Given the description of an element on the screen output the (x, y) to click on. 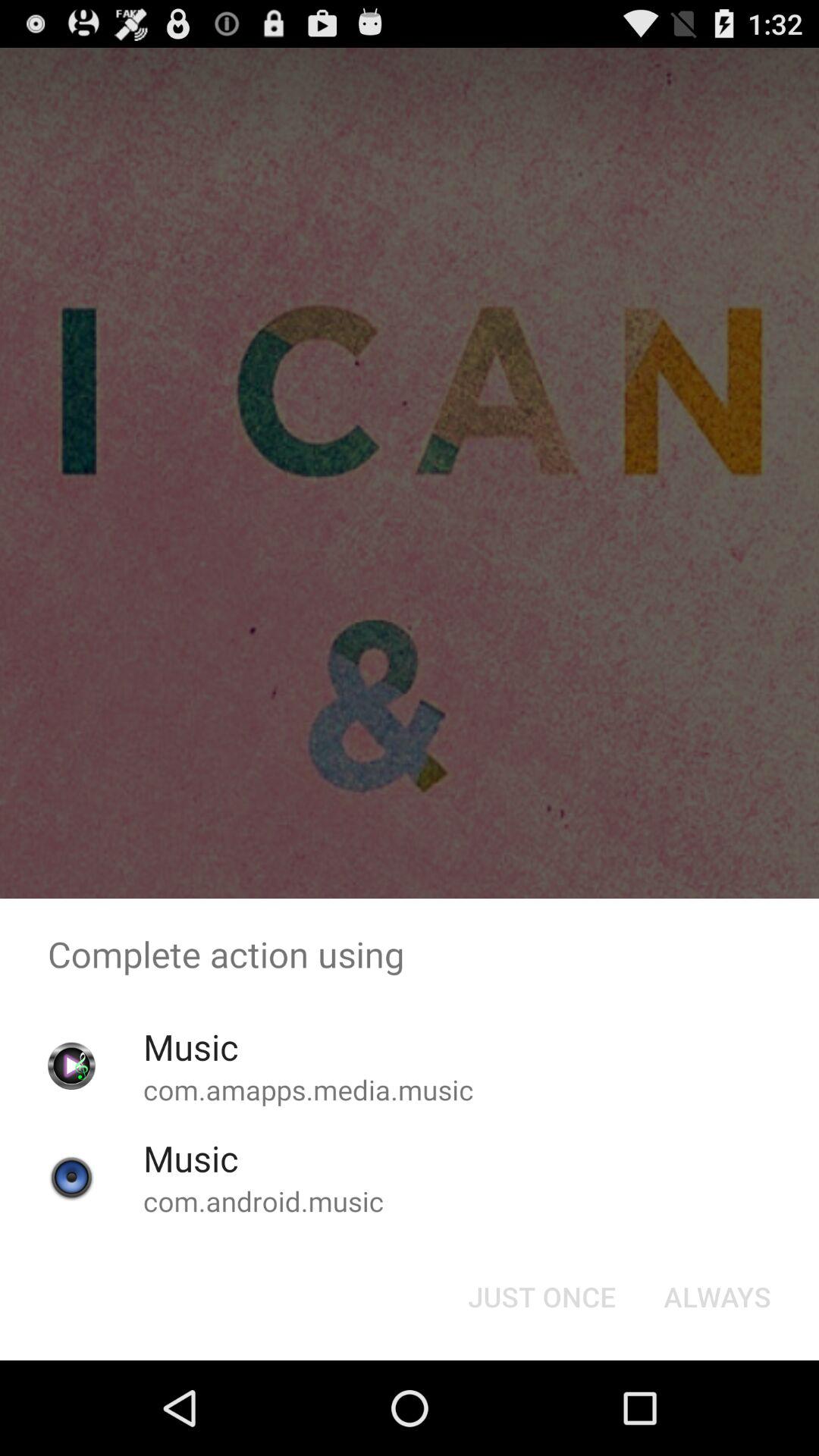
tap the just once icon (541, 1296)
